Given the description of an element on the screen output the (x, y) to click on. 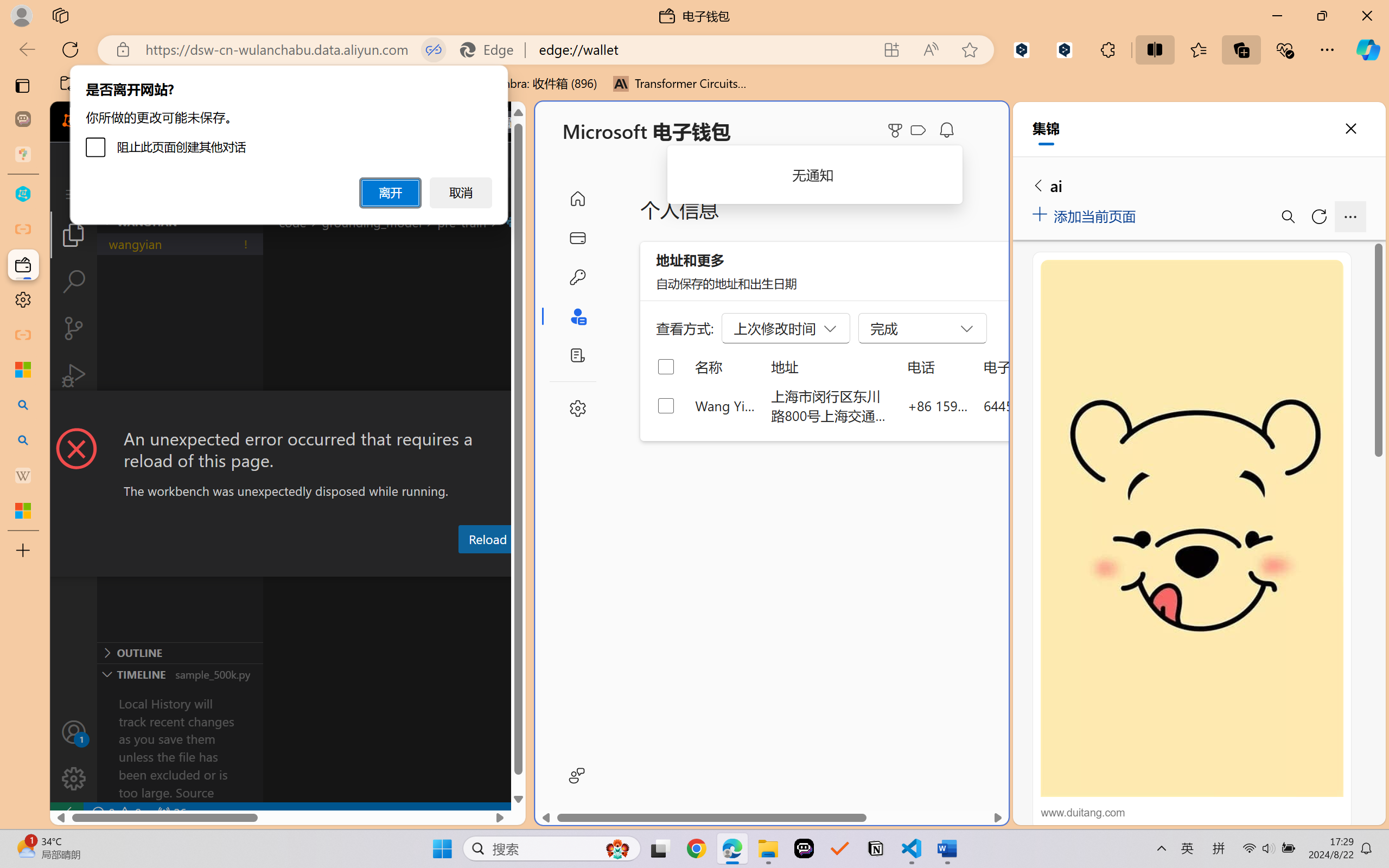
Extensions (Ctrl+Shift+X) (73, 422)
Class: actions-container (287, 410)
Google Chrome (696, 848)
Outline Section (179, 652)
